Given the description of an element on the screen output the (x, y) to click on. 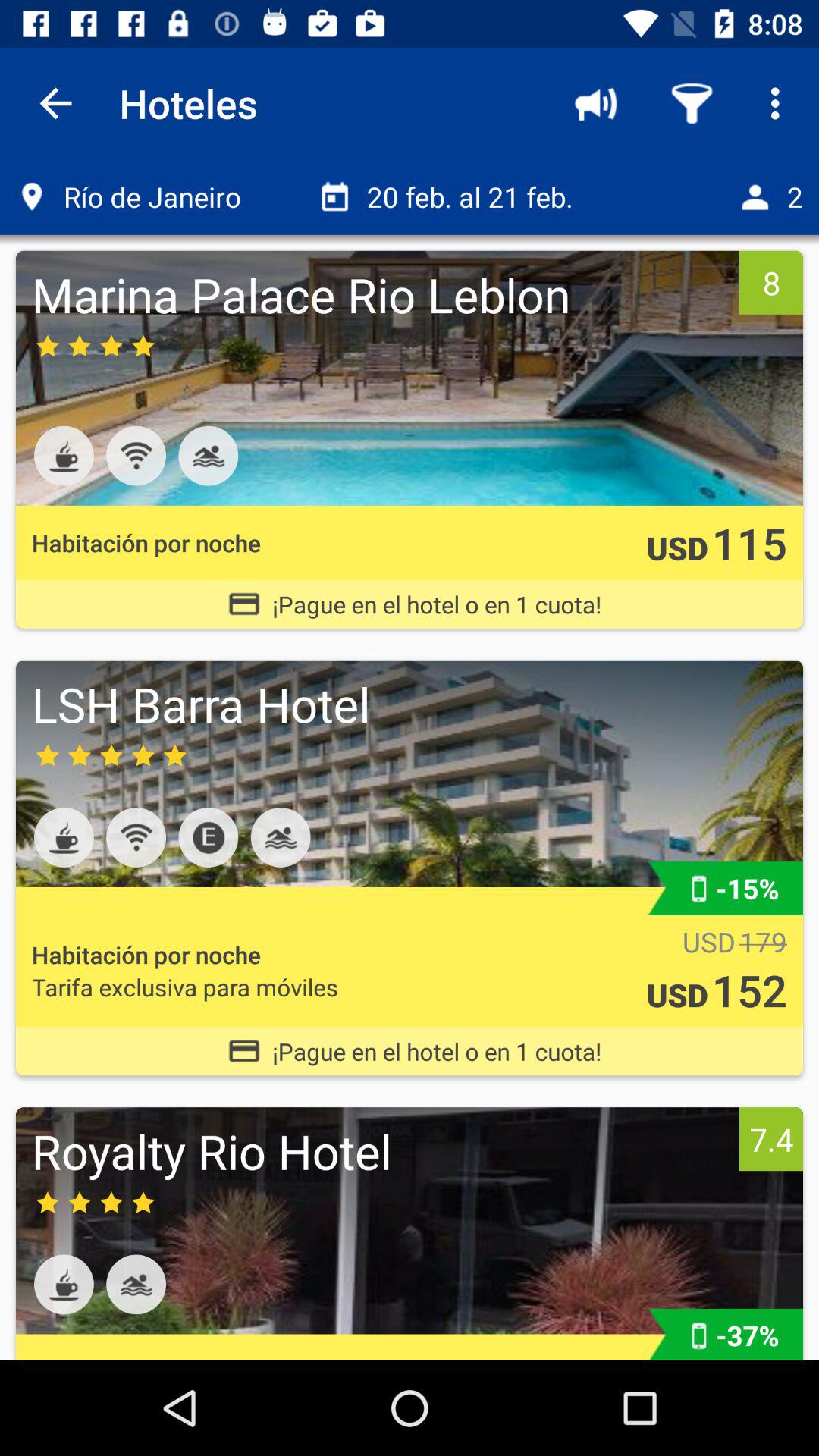
jump to 8 item (771, 282)
